Given the description of an element on the screen output the (x, y) to click on. 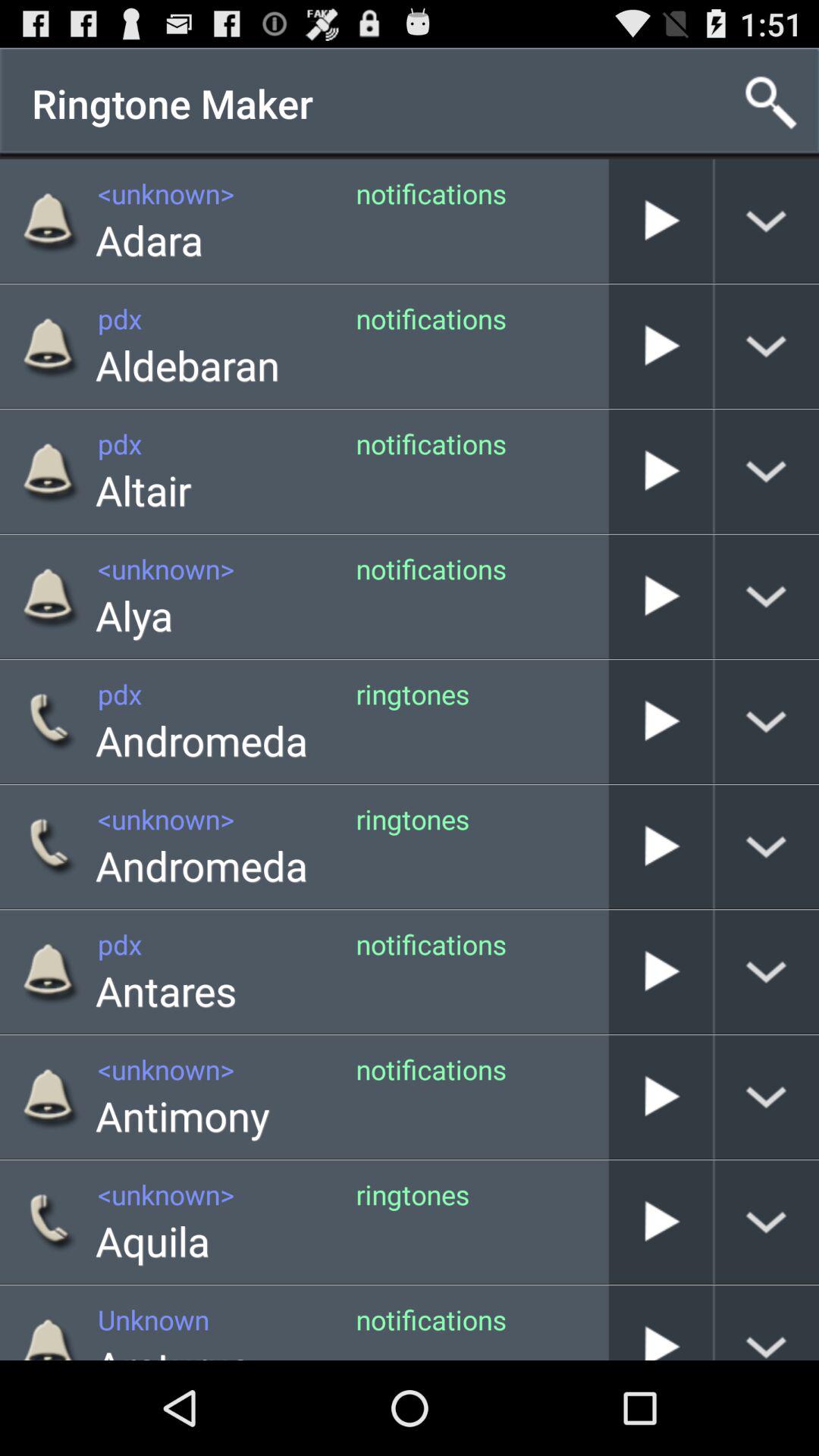
press the item next to the notifications icon (608, 1097)
